Given the description of an element on the screen output the (x, y) to click on. 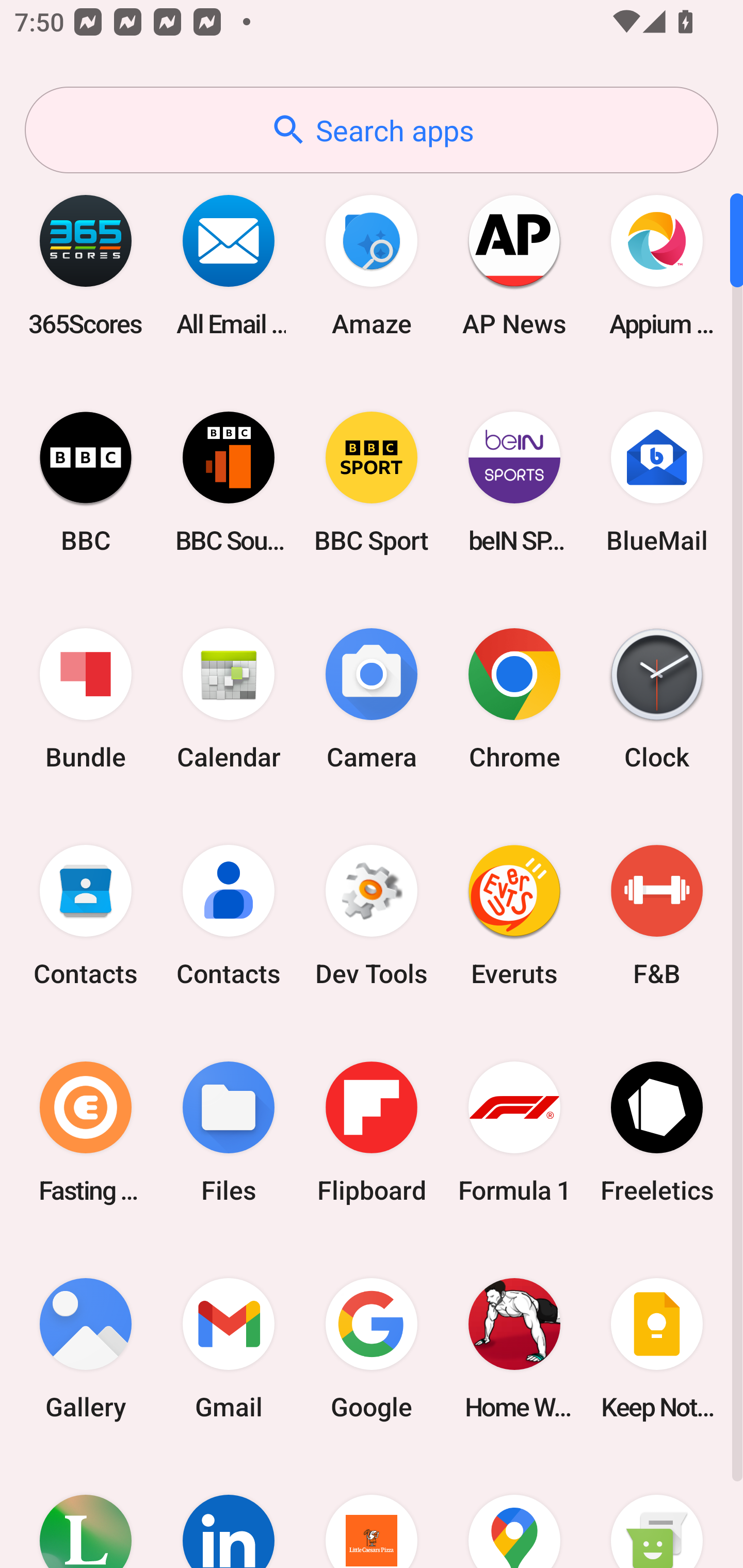
  Search apps (371, 130)
365Scores (85, 264)
All Email Connect (228, 264)
Amaze (371, 264)
AP News (514, 264)
Appium Settings (656, 264)
BBC (85, 482)
BBC Sounds (228, 482)
BBC Sport (371, 482)
beIN SPORTS (514, 482)
BlueMail (656, 482)
Bundle (85, 699)
Calendar (228, 699)
Camera (371, 699)
Chrome (514, 699)
Clock (656, 699)
Contacts (85, 915)
Contacts (228, 915)
Dev Tools (371, 915)
Everuts (514, 915)
F&B (656, 915)
Fasting Coach (85, 1131)
Files (228, 1131)
Flipboard (371, 1131)
Formula 1 (514, 1131)
Freeletics (656, 1131)
Gallery (85, 1348)
Gmail (228, 1348)
Google (371, 1348)
Home Workout (514, 1348)
Keep Notes (656, 1348)
Lifesum (85, 1512)
LinkedIn (228, 1512)
Little Caesars Pizza (371, 1512)
Maps (514, 1512)
Messaging (656, 1512)
